Given the description of an element on the screen output the (x, y) to click on. 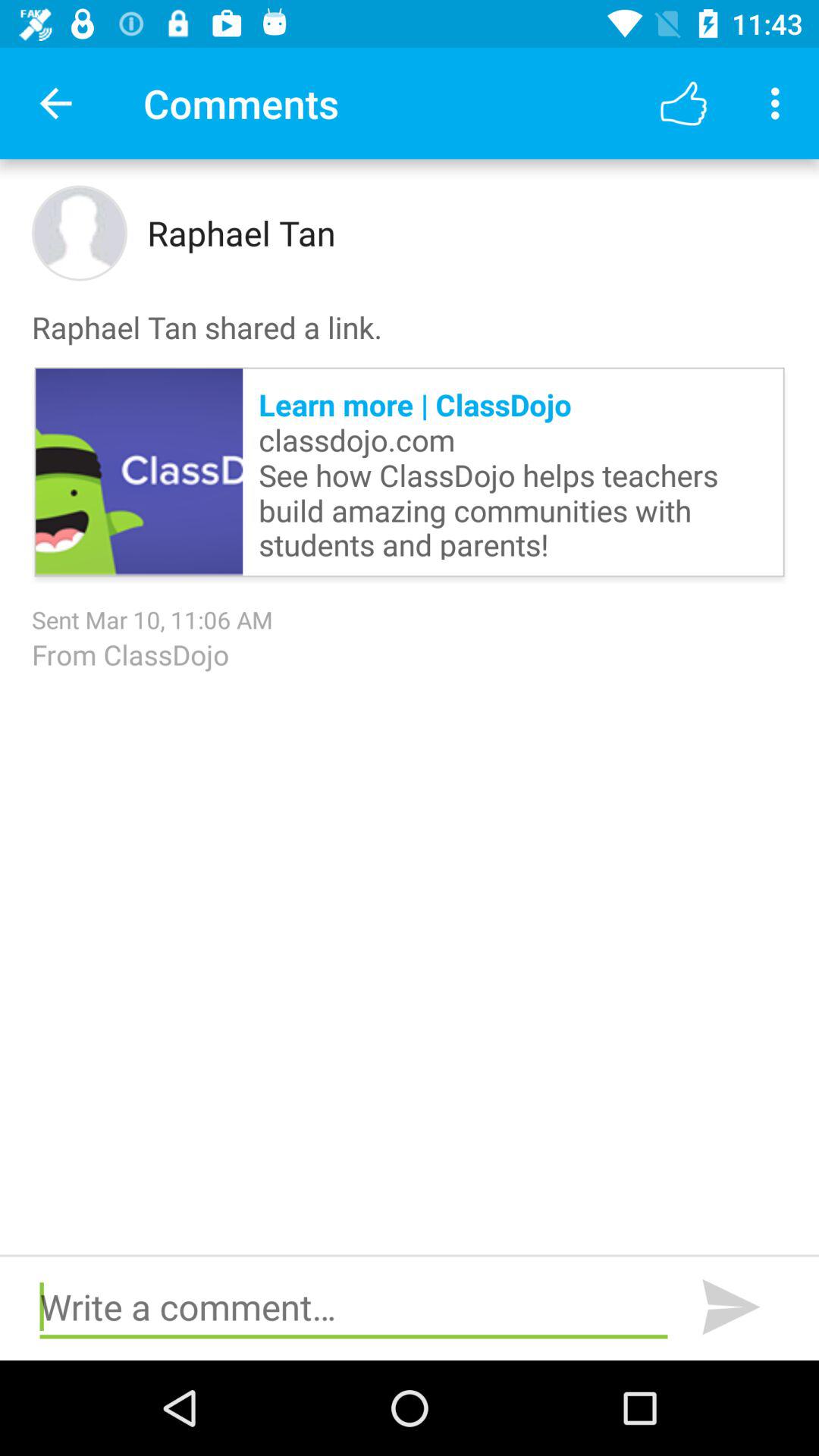
select the icon at the bottom right corner (731, 1307)
